Given the description of an element on the screen output the (x, y) to click on. 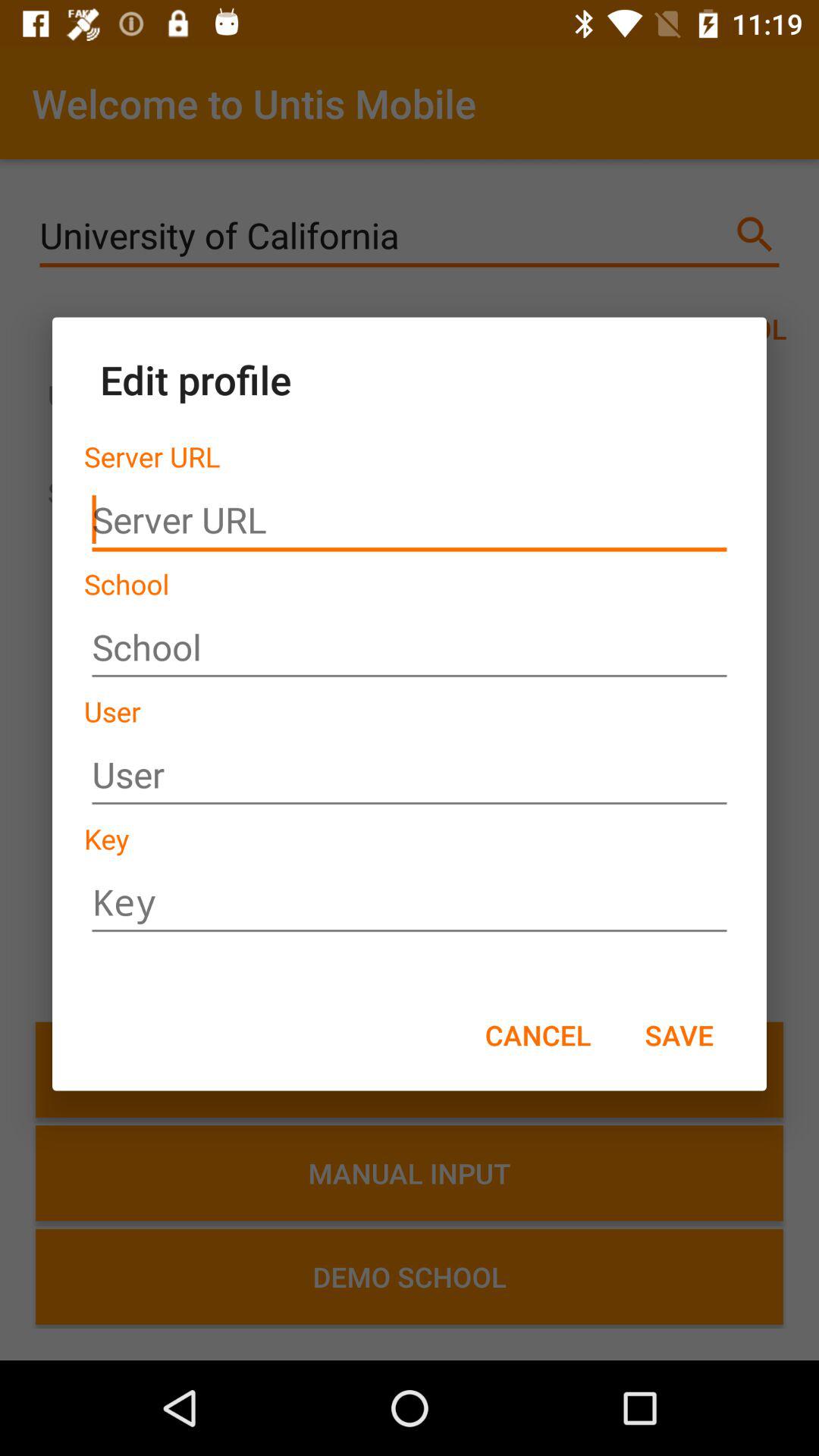
tap the icon next to the save icon (538, 1034)
